Given the description of an element on the screen output the (x, y) to click on. 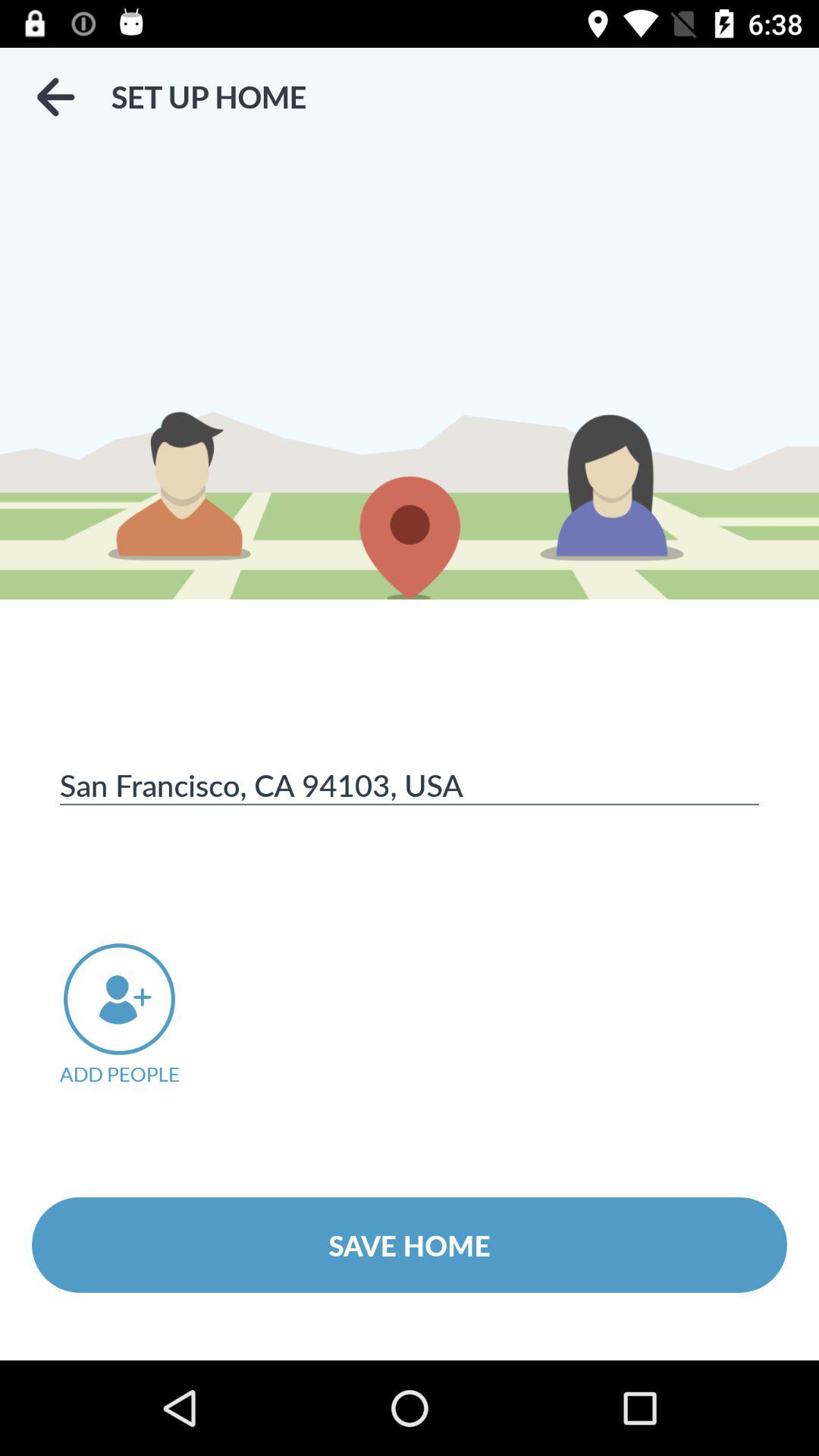
press the icon above san francisco ca item (55, 97)
